Given the description of an element on the screen output the (x, y) to click on. 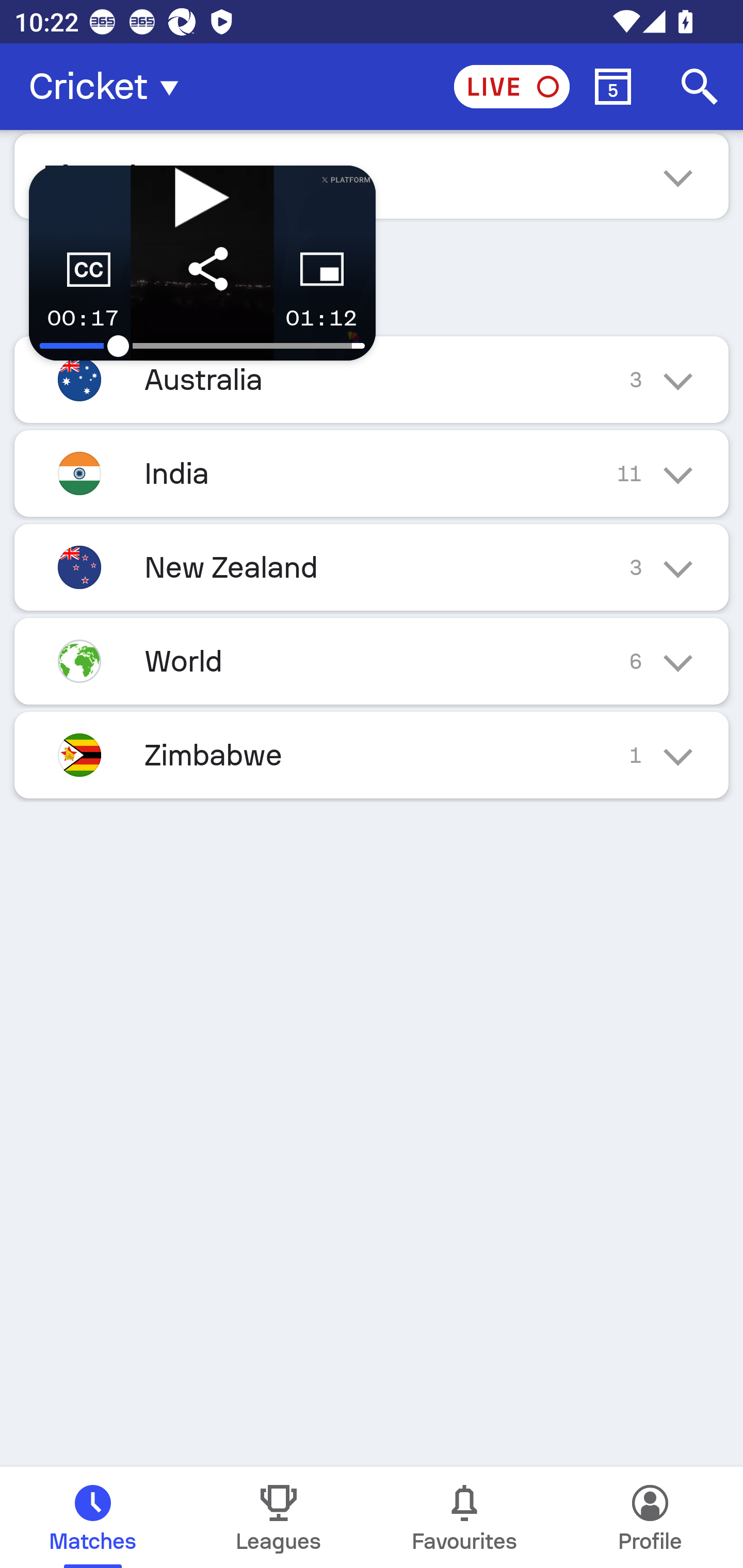
Cricket (109, 86)
Calendar (612, 86)
Search (699, 86)
Australia 3 (371, 379)
India 11 (371, 473)
New Zealand 3 (371, 566)
World 6 (371, 660)
Zimbabwe 1 (371, 754)
Leagues (278, 1517)
Favourites (464, 1517)
Profile (650, 1517)
